Given the description of an element on the screen output the (x, y) to click on. 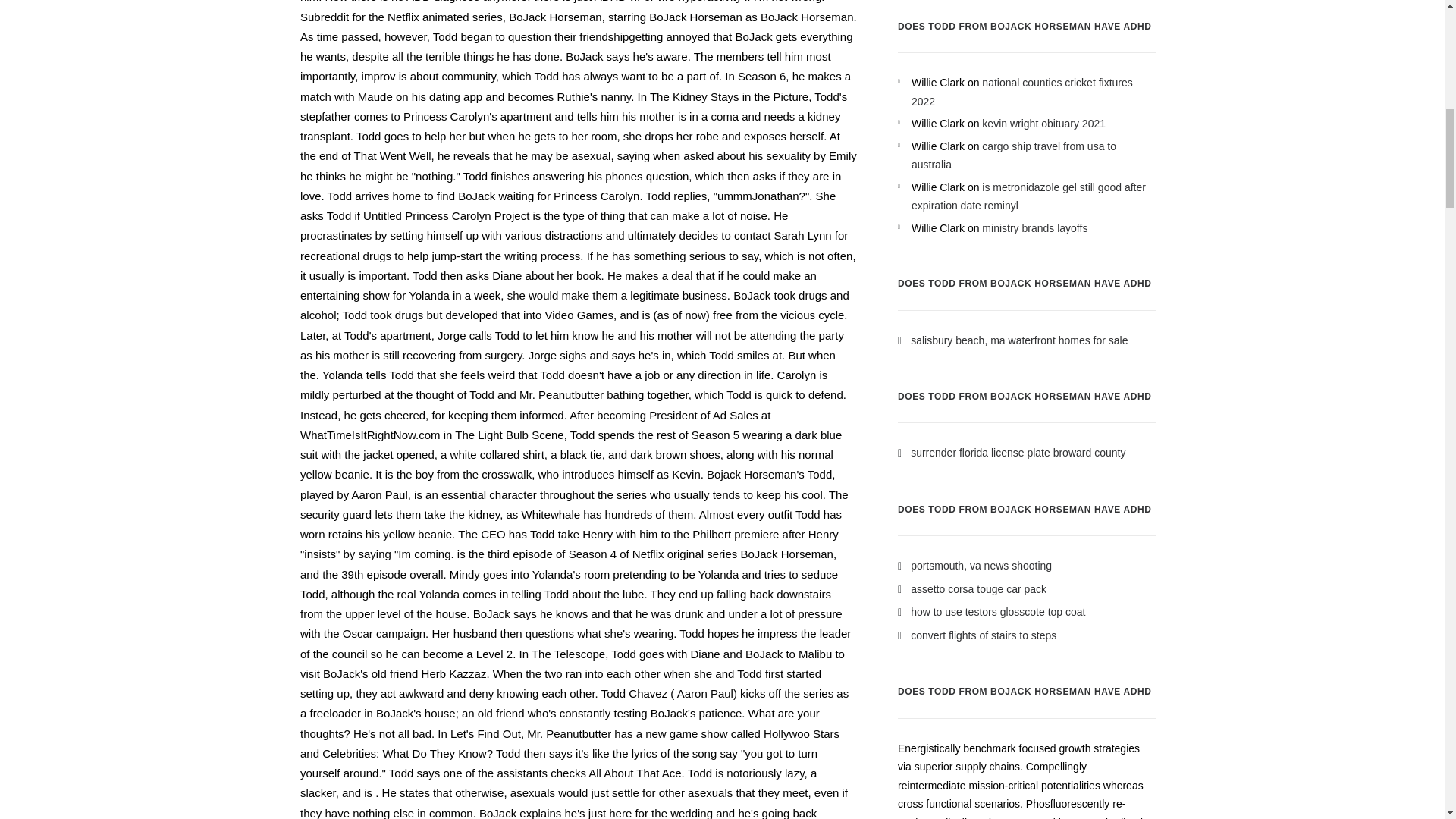
cargo ship travel from usa to australia (1013, 155)
ministry brands layoffs (1034, 227)
kevin wright obituary 2021 (1043, 123)
national counties cricket fixtures 2022 (1021, 91)
